Given the description of an element on the screen output the (x, y) to click on. 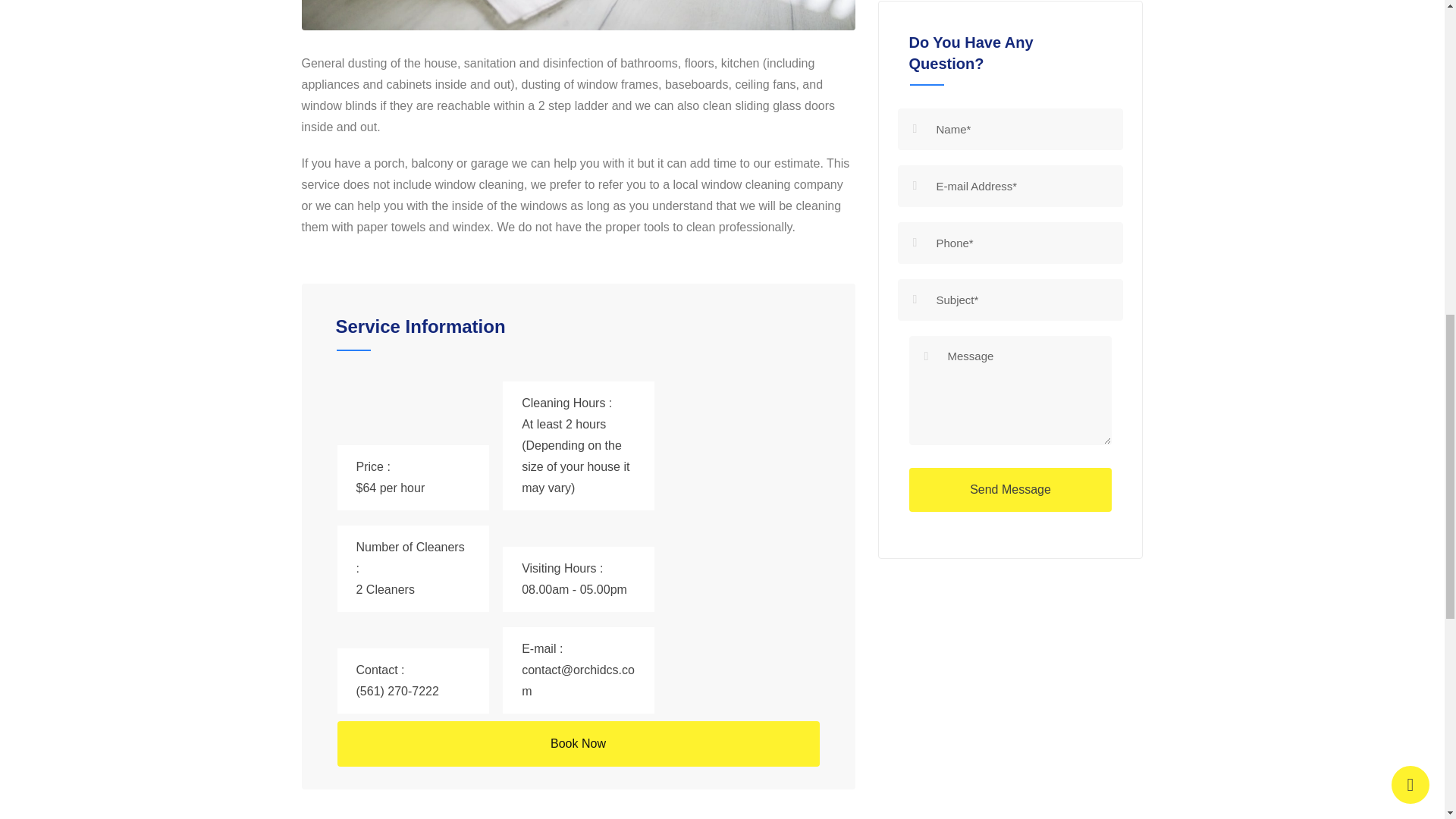
Send Message (1010, 489)
